Given the description of an element on the screen output the (x, y) to click on. 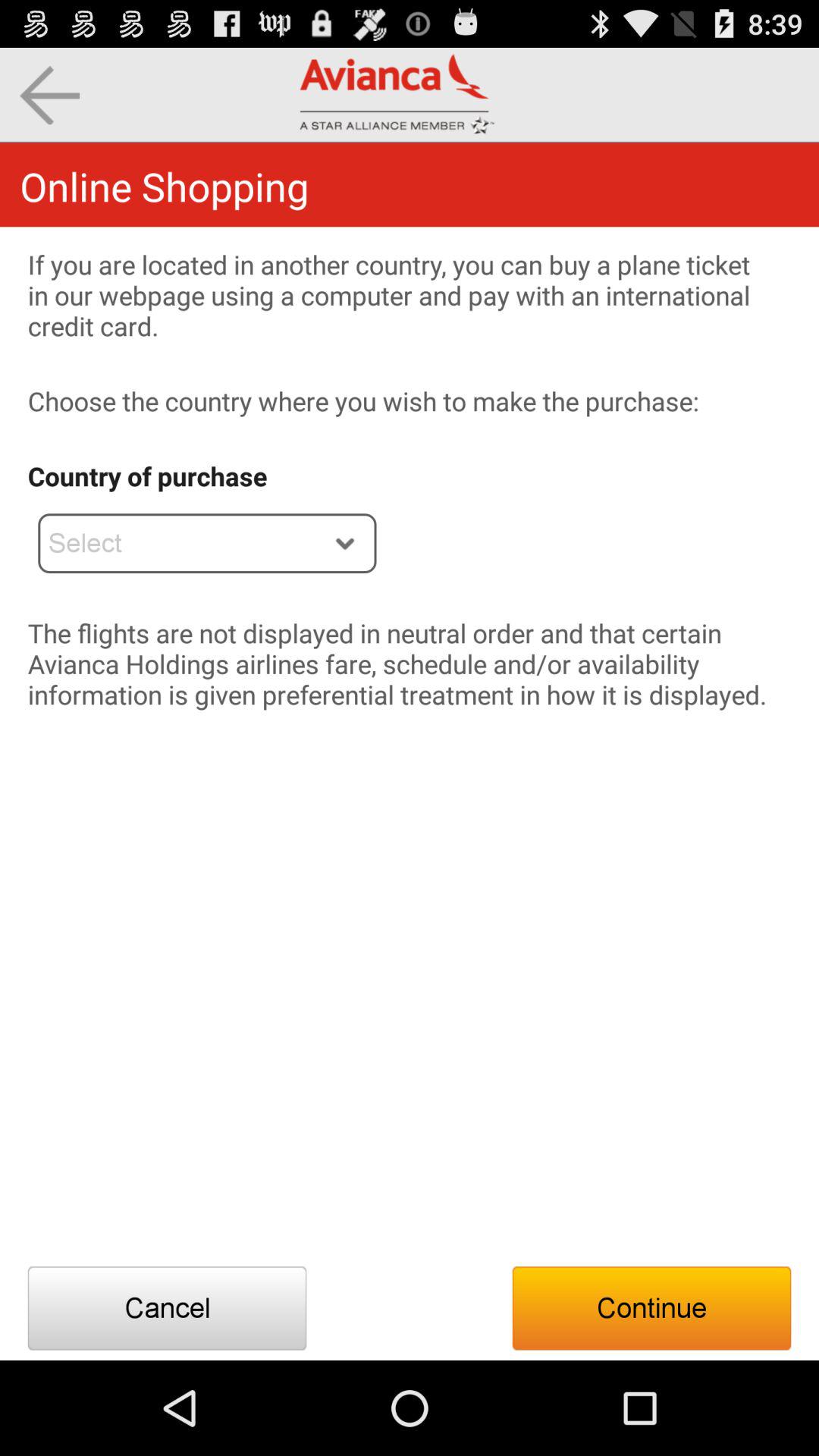
choose the app below the country of purchase item (207, 543)
